Given the description of an element on the screen output the (x, y) to click on. 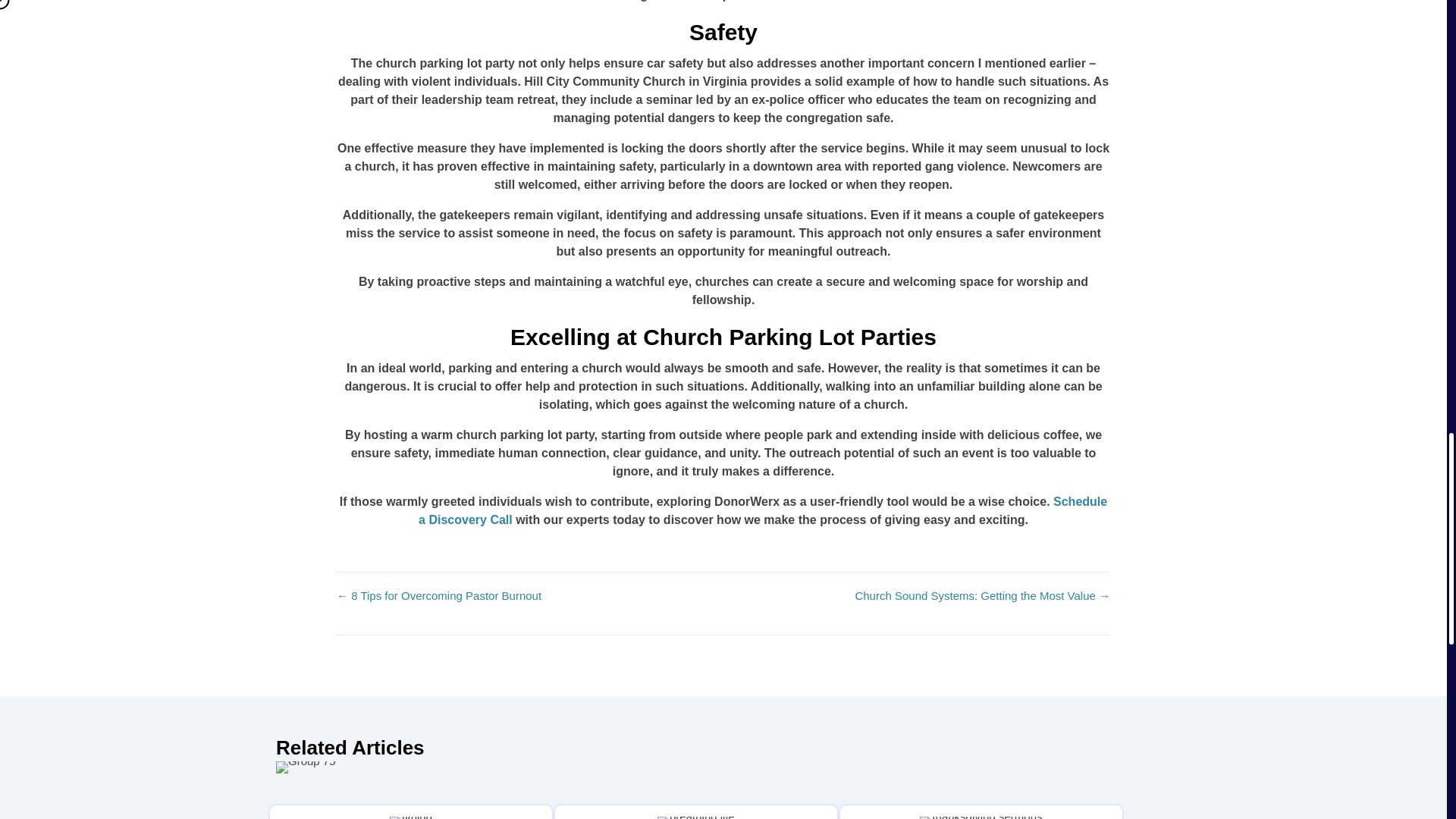
tithing (411, 817)
10 Thanksgiving Sermons Every Pastor Should Be Thankful For (981, 812)
The Art of Storytelling: Breathing Life into Evangelism (695, 812)
breathing life (696, 817)
Group 75 (306, 767)
thanksgiving (981, 817)
